Given the description of an element on the screen output the (x, y) to click on. 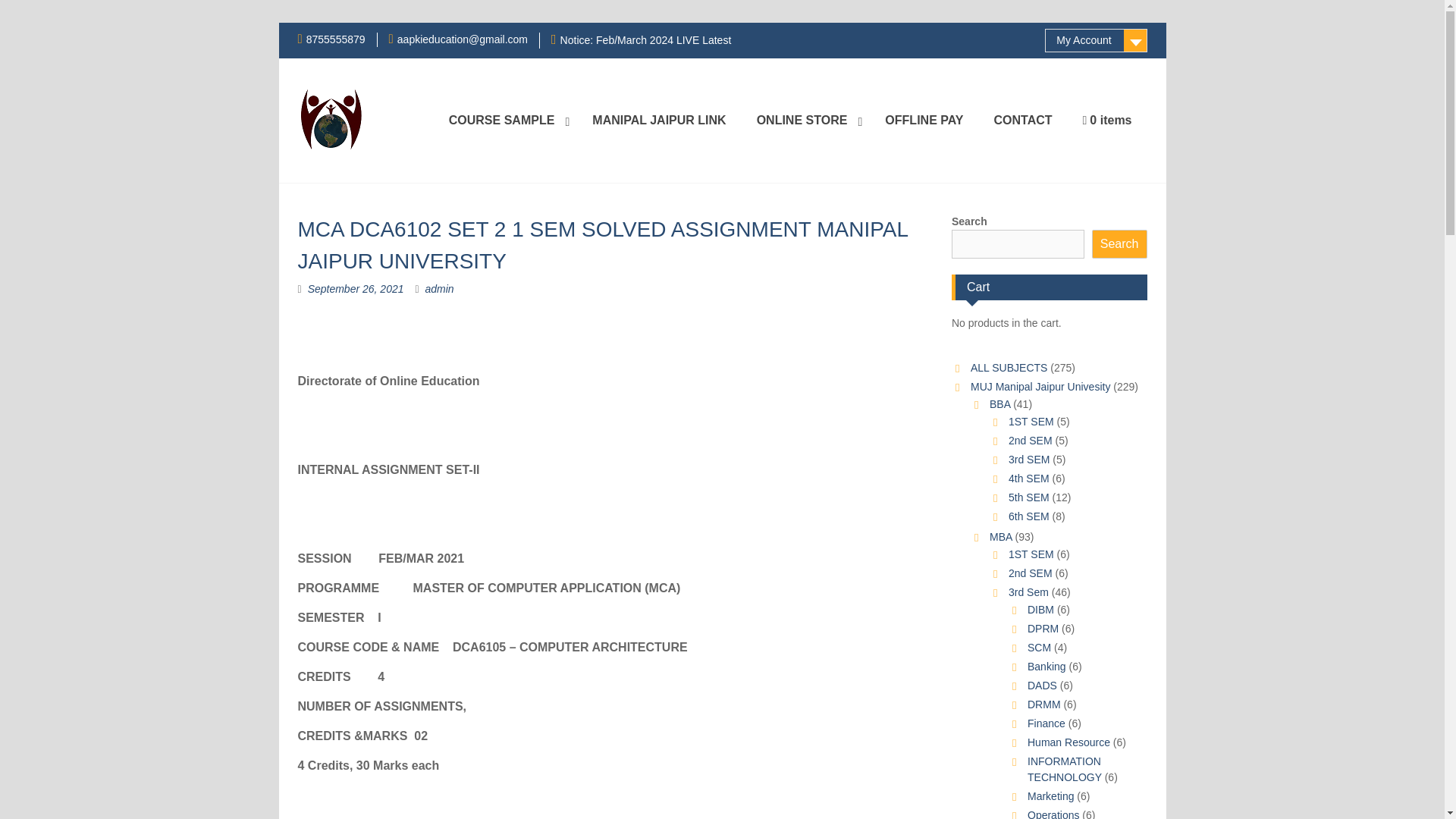
ONLINE STORE (805, 120)
Start shopping (1107, 120)
My Account (1096, 40)
8755555879 (335, 39)
MANIPAL JAIPUR LINK (658, 120)
COURSE SAMPLE (505, 120)
